Given the description of an element on the screen output the (x, y) to click on. 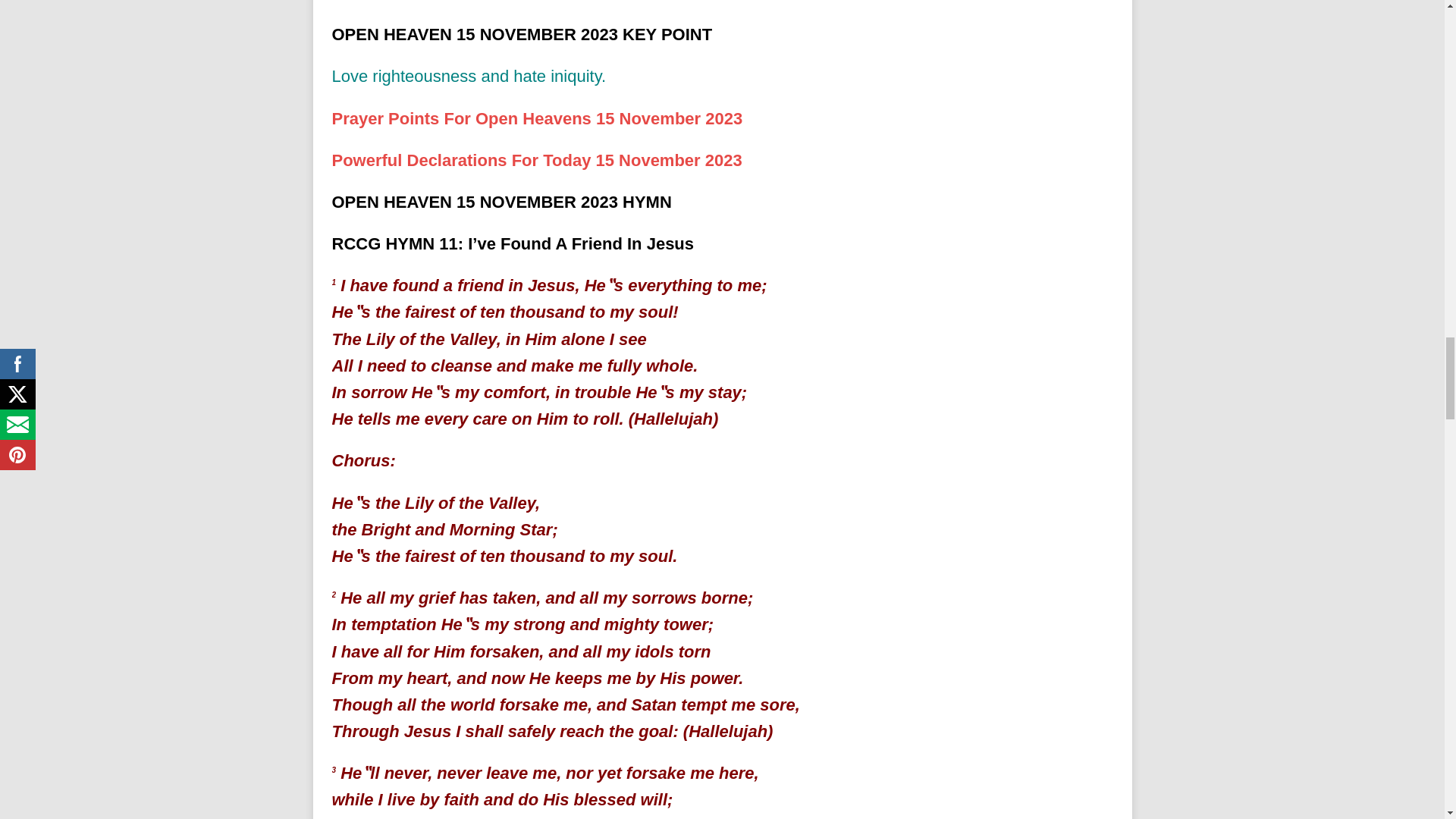
Powerful Declarations For Today 15 November 2023 (536, 159)
Prayer Points For Open Heavens 15 November 2023 (536, 117)
